Given the description of an element on the screen output the (x, y) to click on. 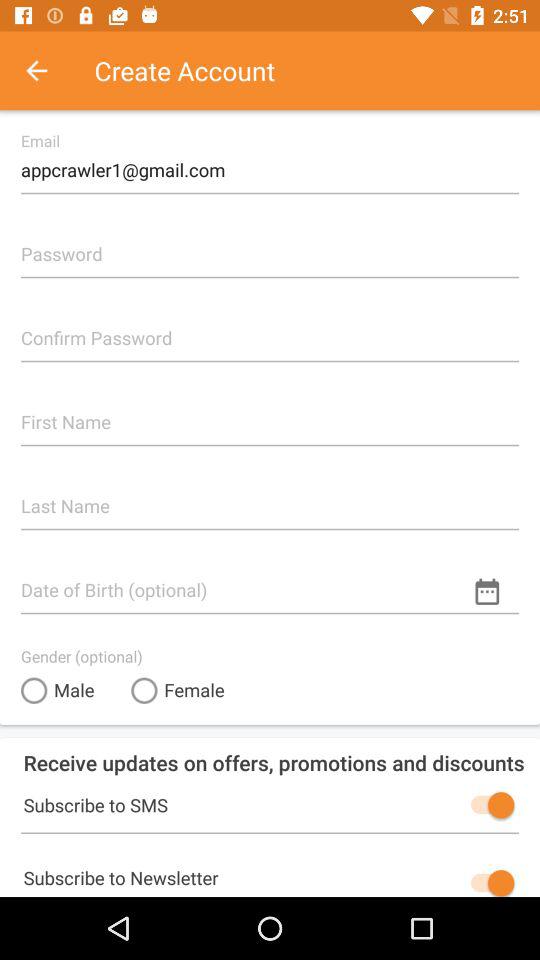
click icon above the male (81, 656)
